Given the description of an element on the screen output the (x, y) to click on. 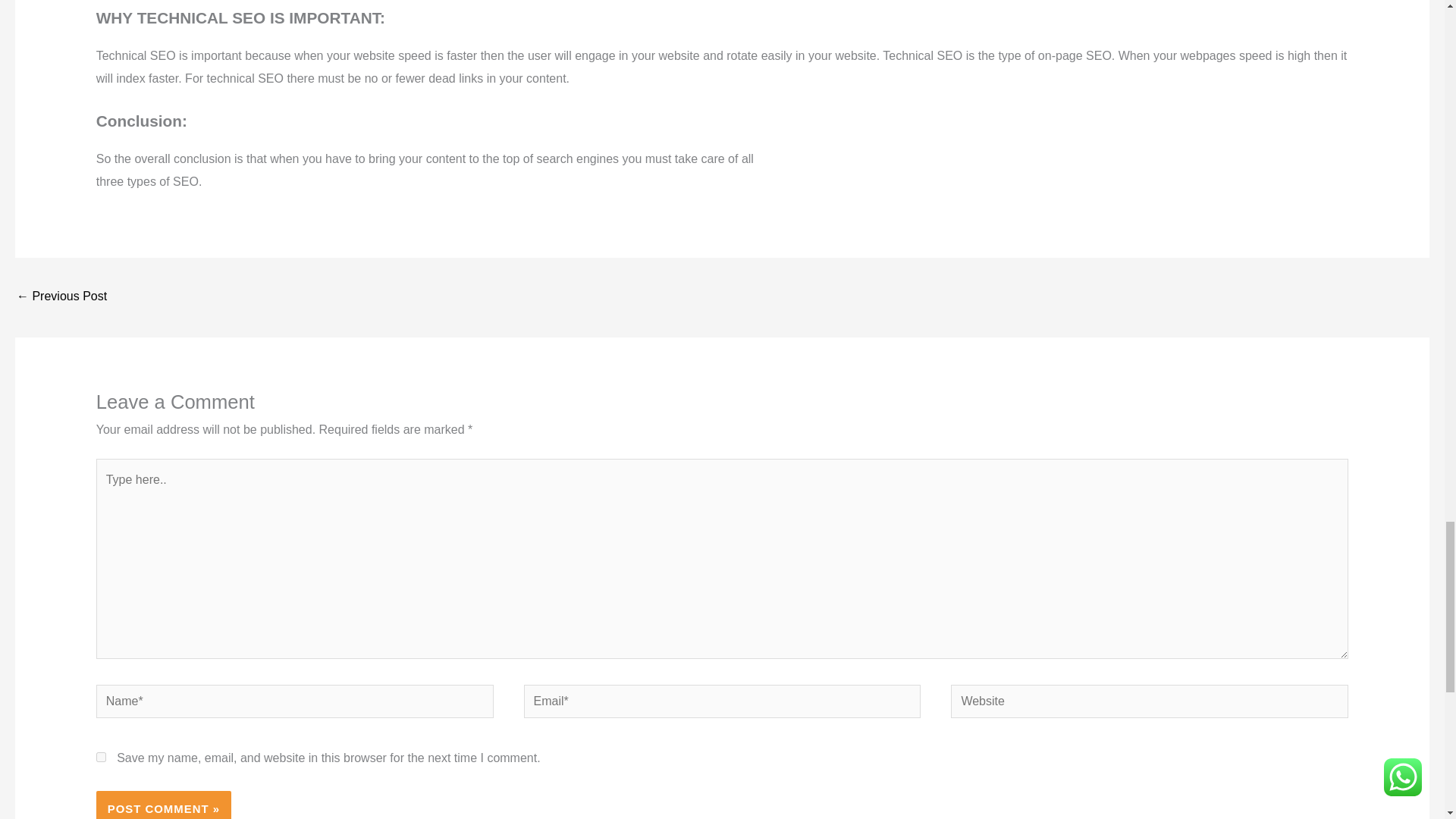
yes (101, 757)
